Given the description of an element on the screen output the (x, y) to click on. 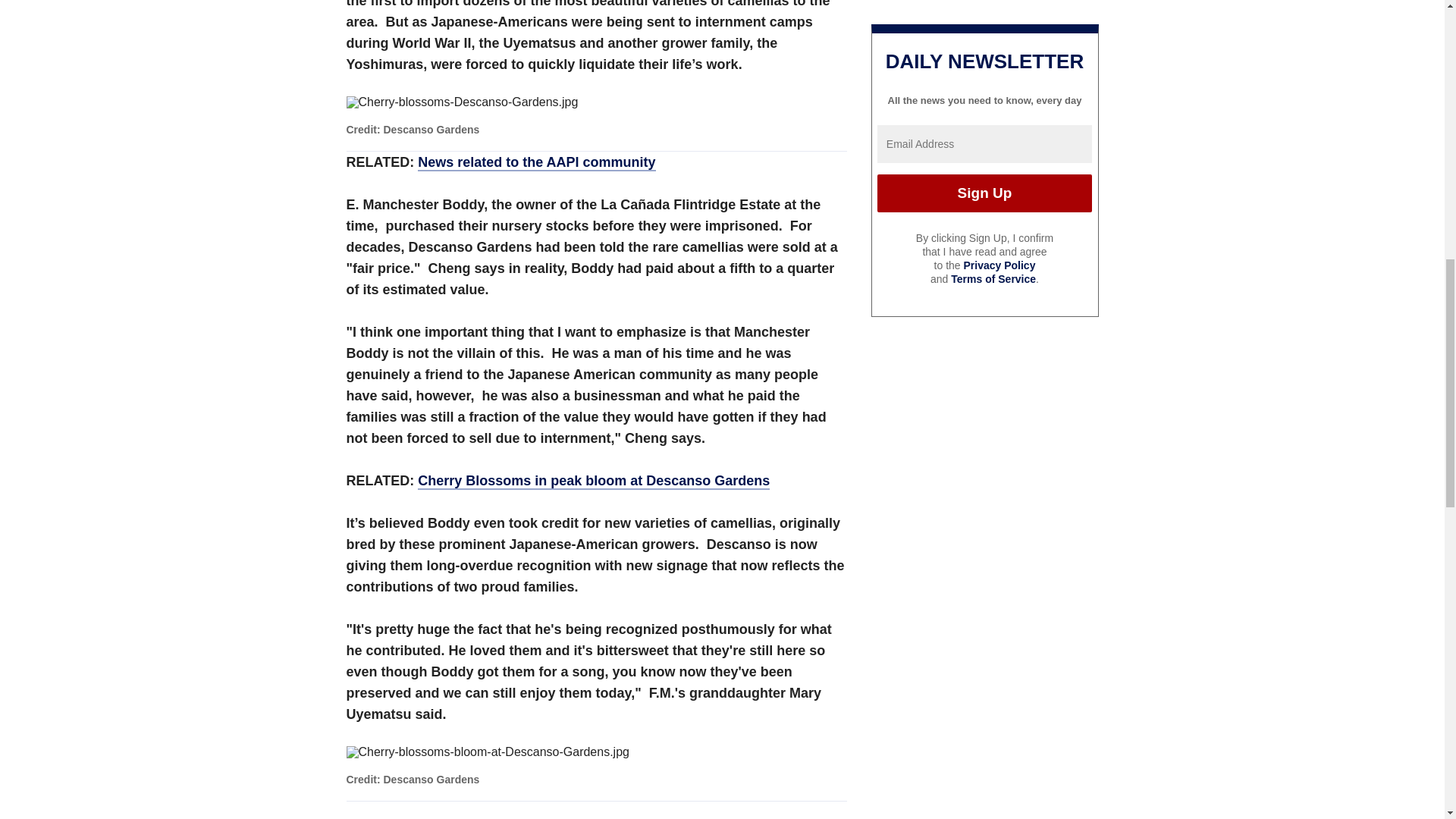
Sign Up (984, 193)
